Given the description of an element on the screen output the (x, y) to click on. 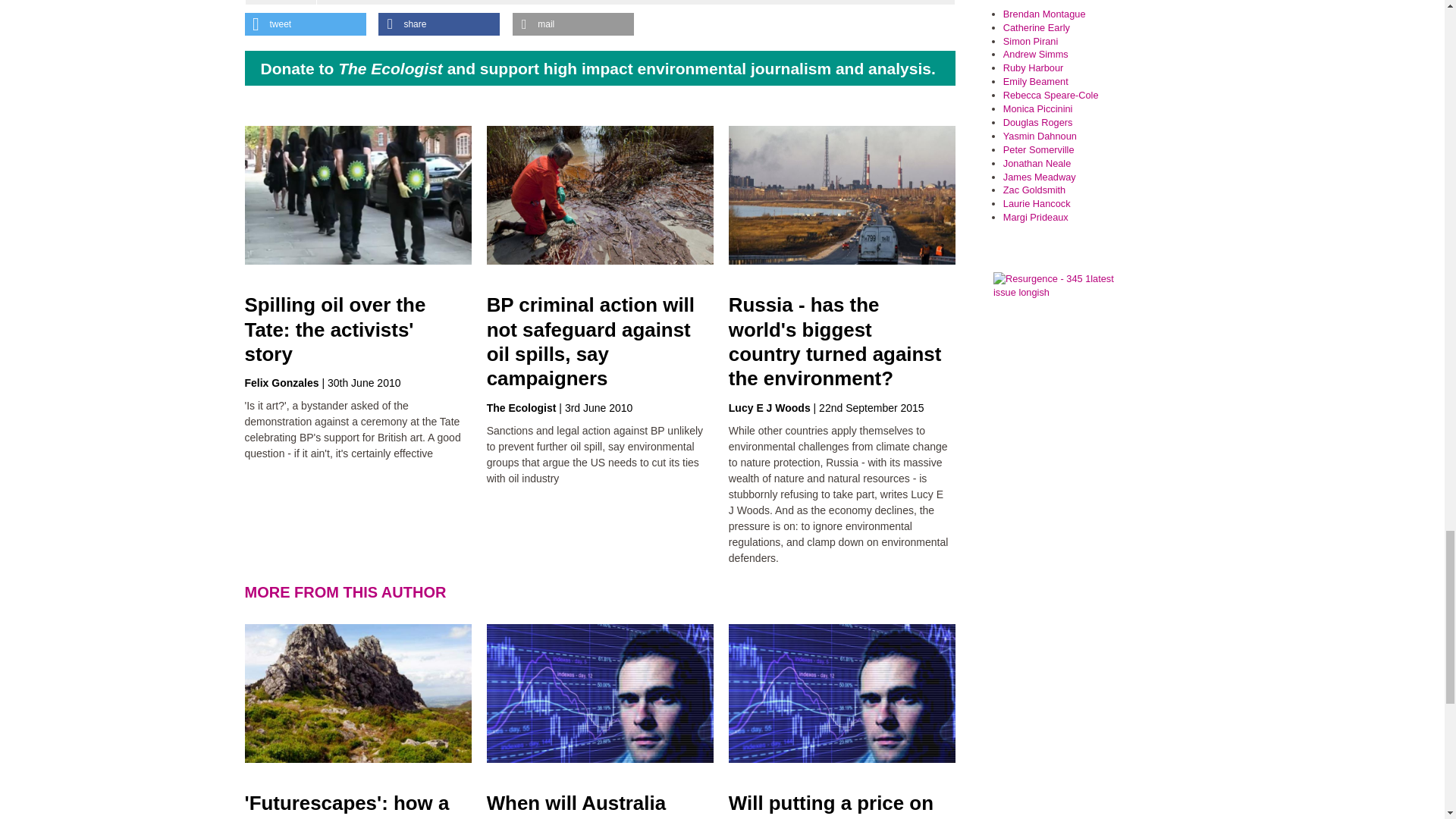
Share on Facebook (438, 24)
Wednesday, June 30, 2010 - 00:00 (364, 382)
Thursday, June 3, 2010 - 00:00 (598, 408)
Share on Twitter (304, 24)
Tuesday, September 22, 2015 - 00:00 (871, 408)
Send by email (572, 24)
